Given the description of an element on the screen output the (x, y) to click on. 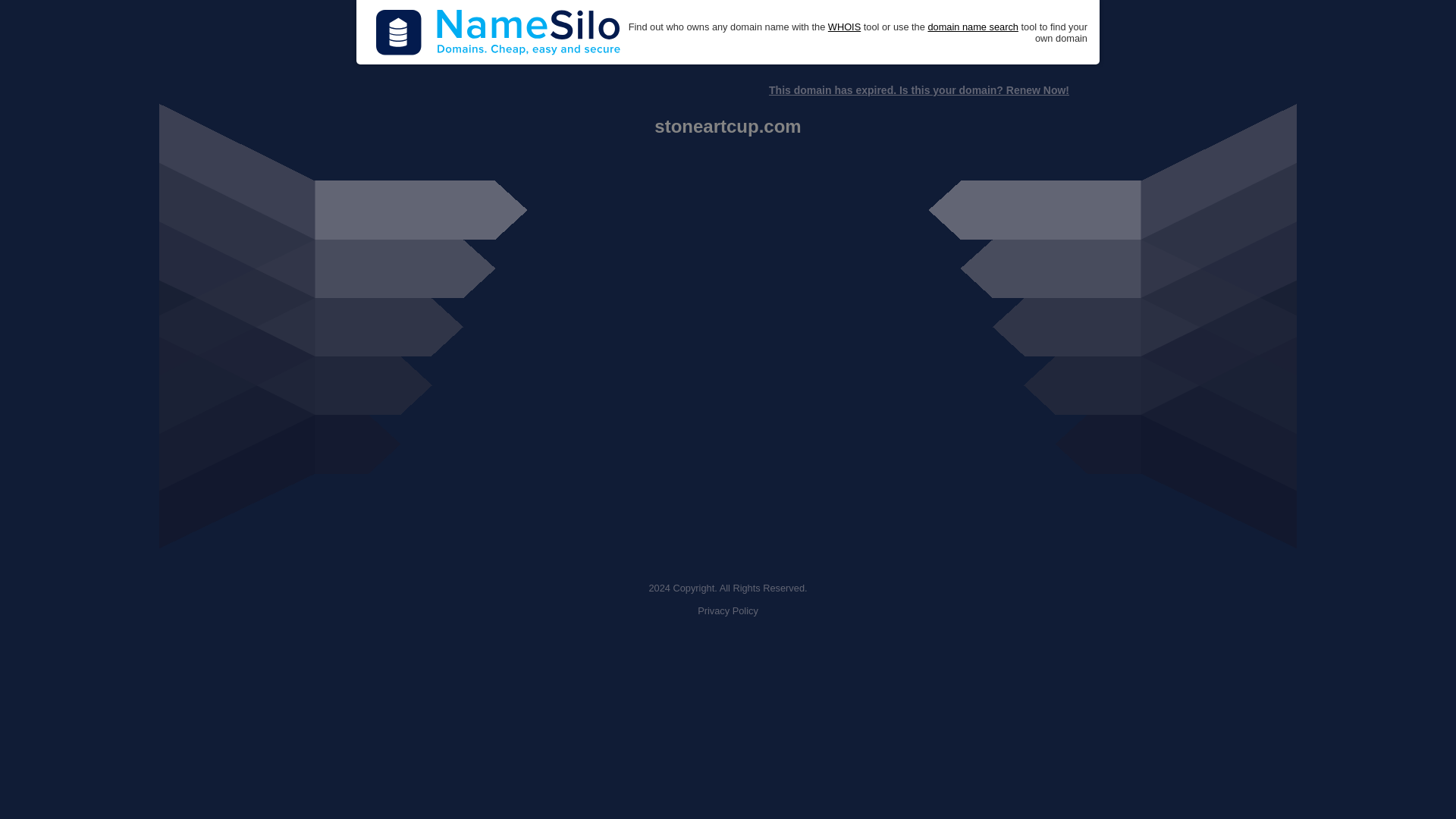
Privacy Policy (727, 610)
This domain has expired. Is this your domain? Renew Now! (918, 90)
WHOIS (844, 26)
domain name search (972, 26)
